Given the description of an element on the screen output the (x, y) to click on. 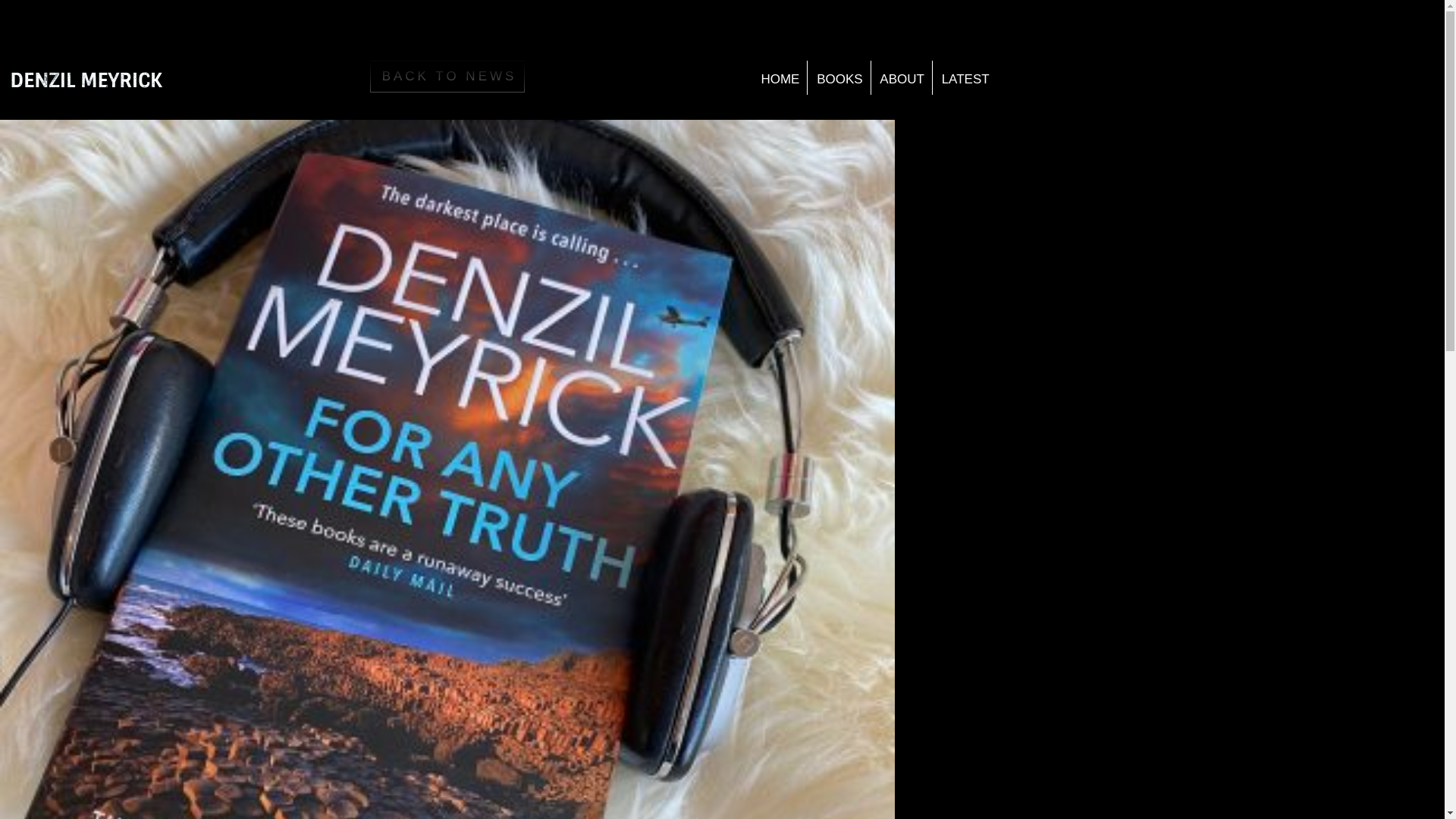
BACK TO NEWS (447, 76)
HOME (780, 77)
ABOUT (902, 77)
Denzil Meyrick (87, 79)
BOOKS (839, 77)
LATEST (965, 77)
